Given the description of an element on the screen output the (x, y) to click on. 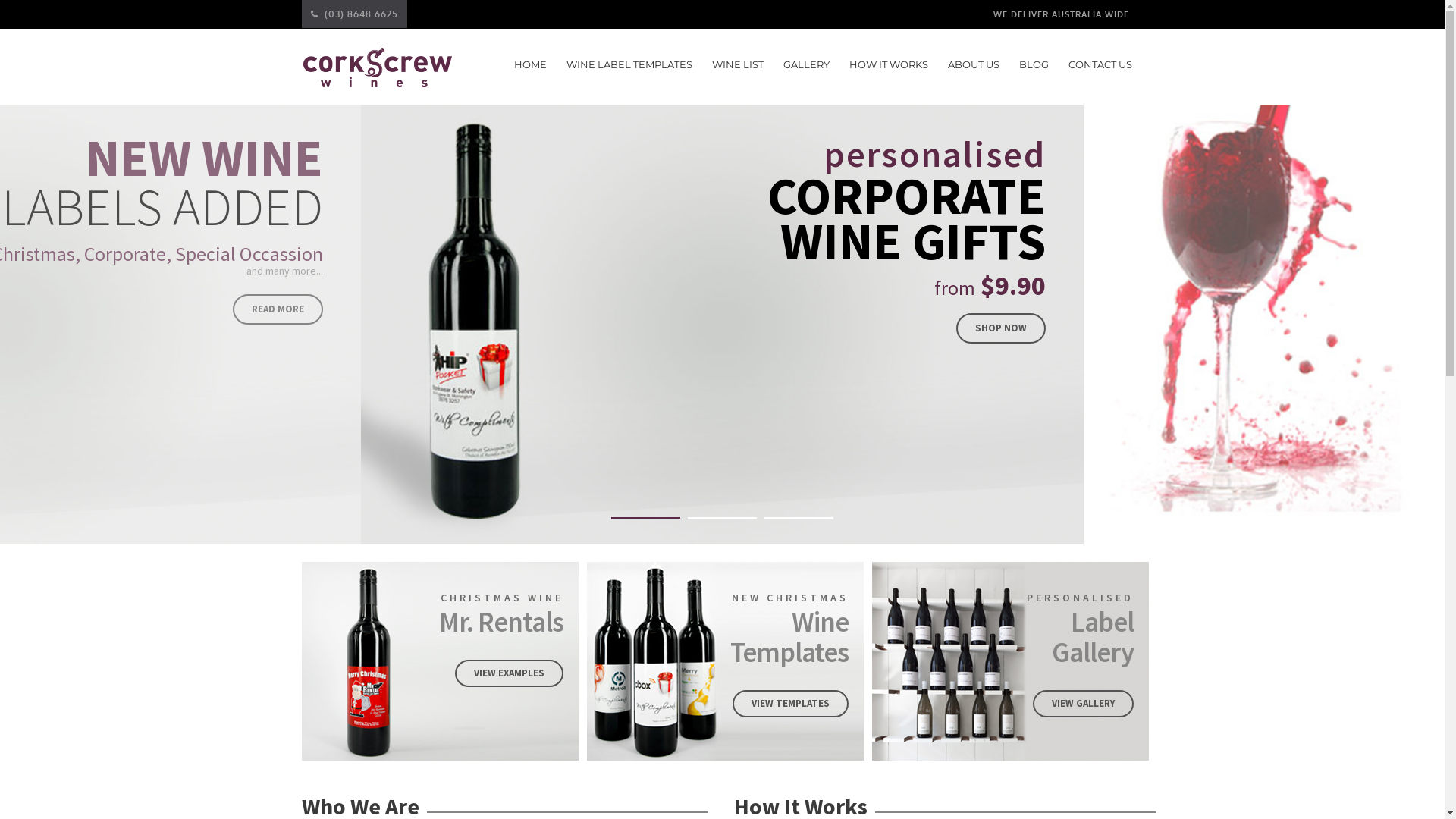
ABOUT US Element type: text (973, 64)
VIEW EXAMPLES Element type: text (509, 673)
WINE LIST Element type: text (736, 64)
BLOG Element type: text (1033, 64)
WINE LABEL TEMPLATES Element type: text (628, 64)
HOW IT WORKS Element type: text (888, 64)
VIEW GALLERY Element type: text (1082, 703)
READ MORE Element type: text (277, 309)
GALLERY Element type: text (805, 64)
SHOP NOW Element type: text (1000, 328)
CONTACT US Element type: text (1099, 64)
WE DELIVER AUSTRALIA WIDE Element type: text (1060, 14)
VIEW TEMPLATES Element type: text (790, 703)
HOME Element type: text (530, 64)
